Given the description of an element on the screen output the (x, y) to click on. 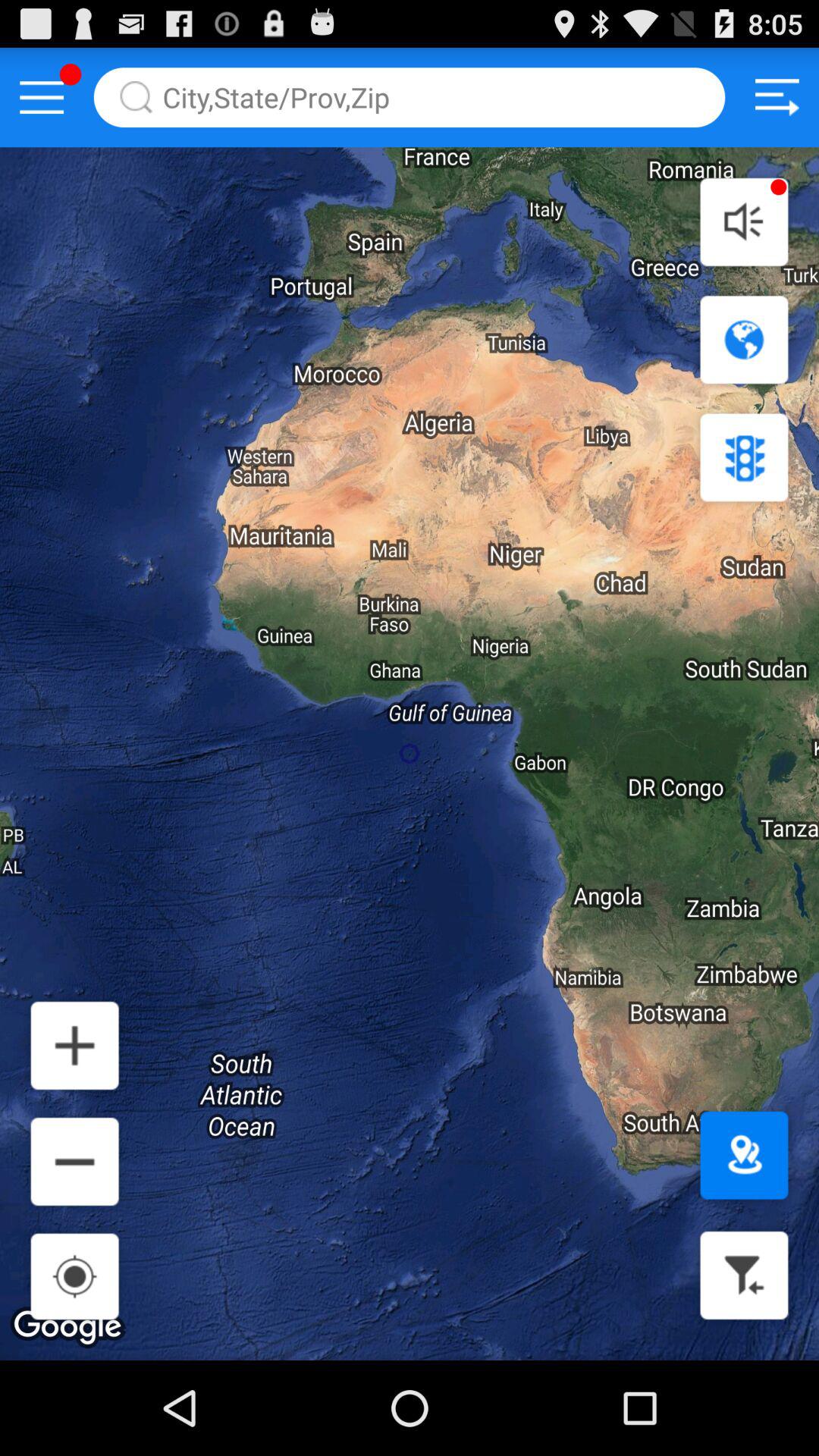
location button (744, 1155)
